Given the description of an element on the screen output the (x, y) to click on. 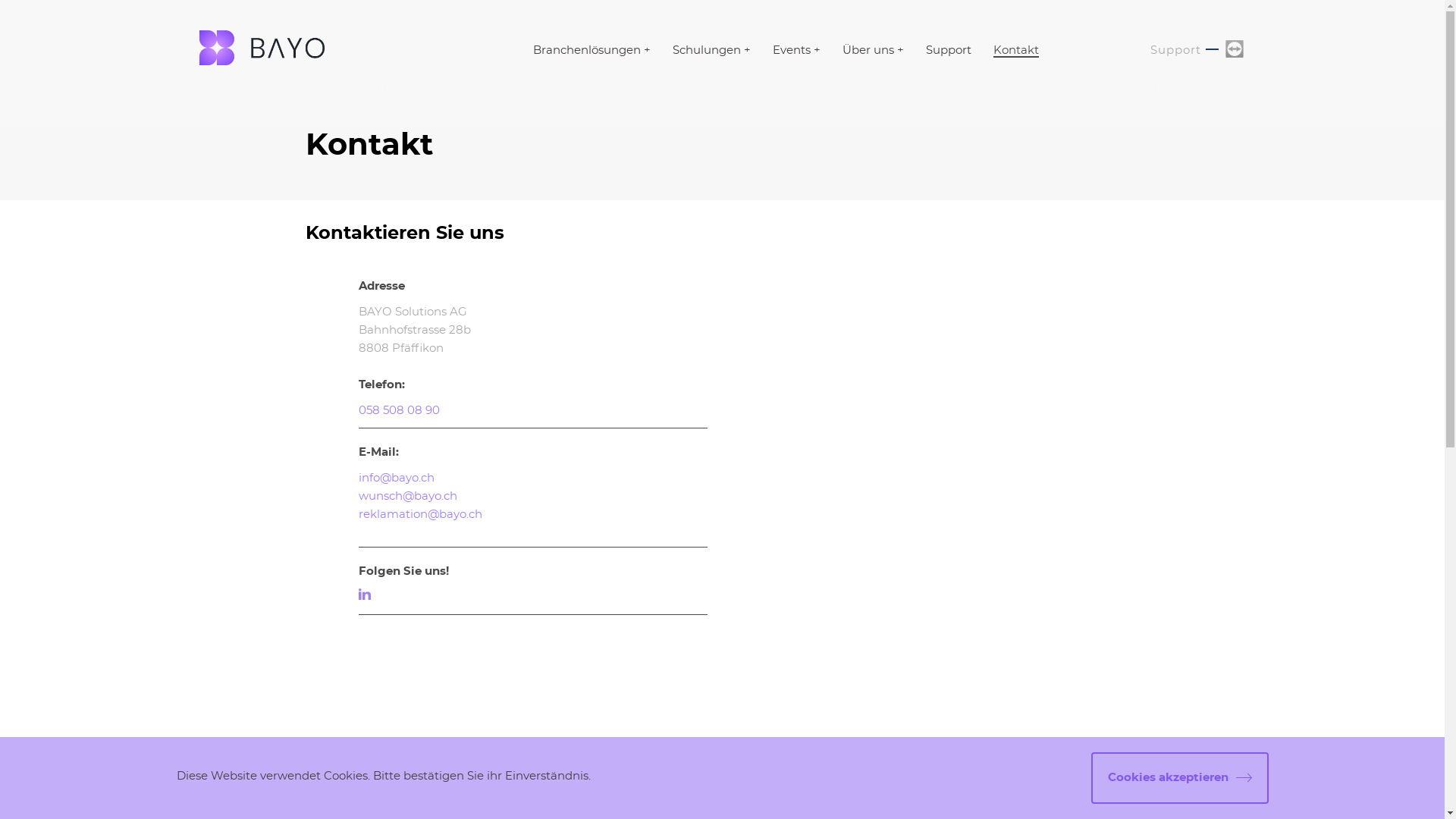
  Element type: text (366, 593)
Events + Element type: text (795, 50)
Kontakt Element type: text (1015, 50)
058 508 08 90 Element type: text (398, 410)
info@bayo.ch Element type: text (395, 477)
reklamation@bayo.ch Element type: text (419, 514)
wunsch@bayo.ch Element type: text (406, 496)
Support Element type: text (947, 50)
Cookies akzeptieren Element type: text (1178, 777)
Support Element type: text (1174, 50)
Schulungen + Element type: text (710, 50)
